Given the description of an element on the screen output the (x, y) to click on. 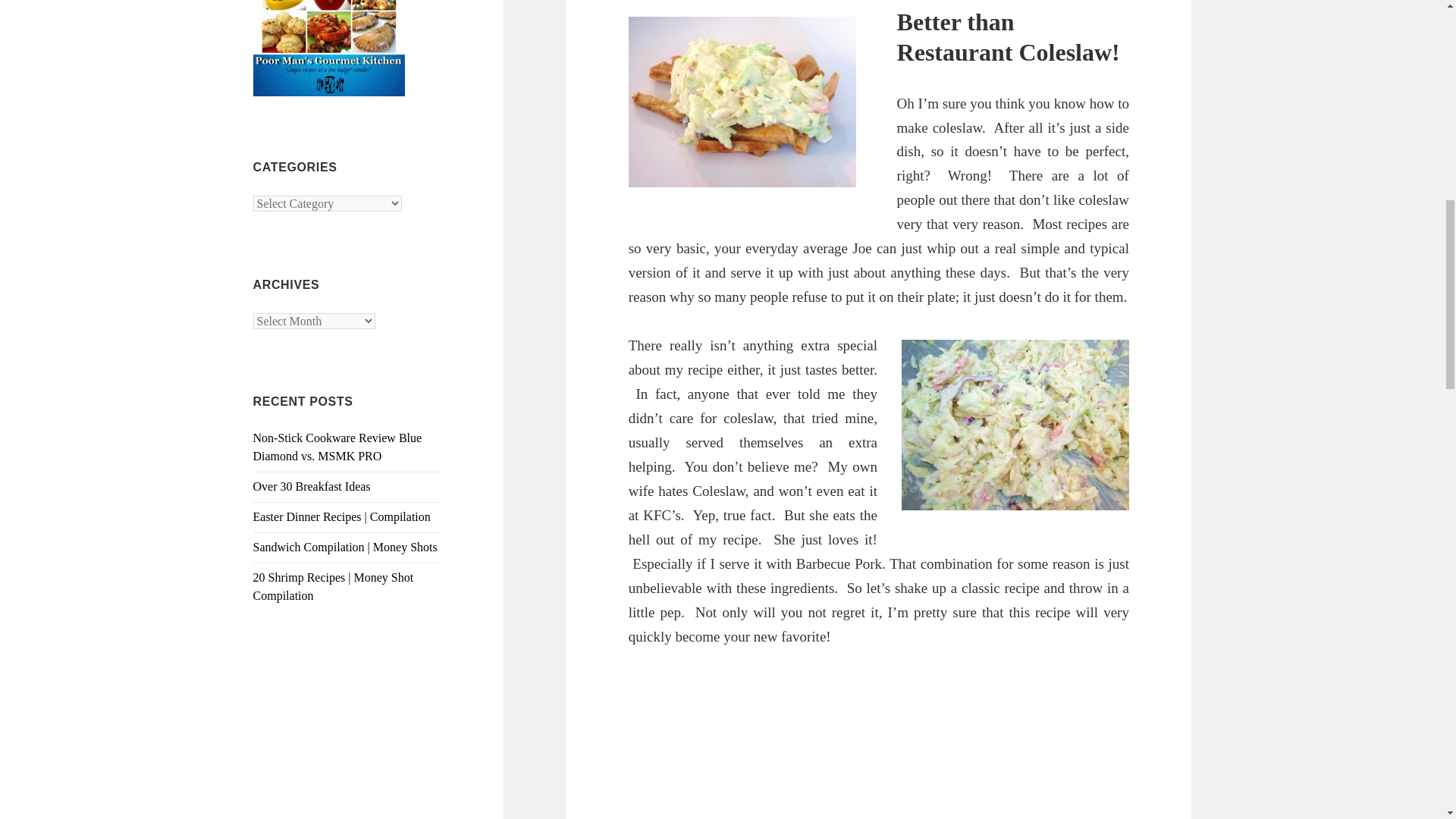
Non-Stick Cookware Review Blue Diamond vs. MSMK PRO (337, 446)
Over 30 Breakfast Ideas (312, 486)
